Given the description of an element on the screen output the (x, y) to click on. 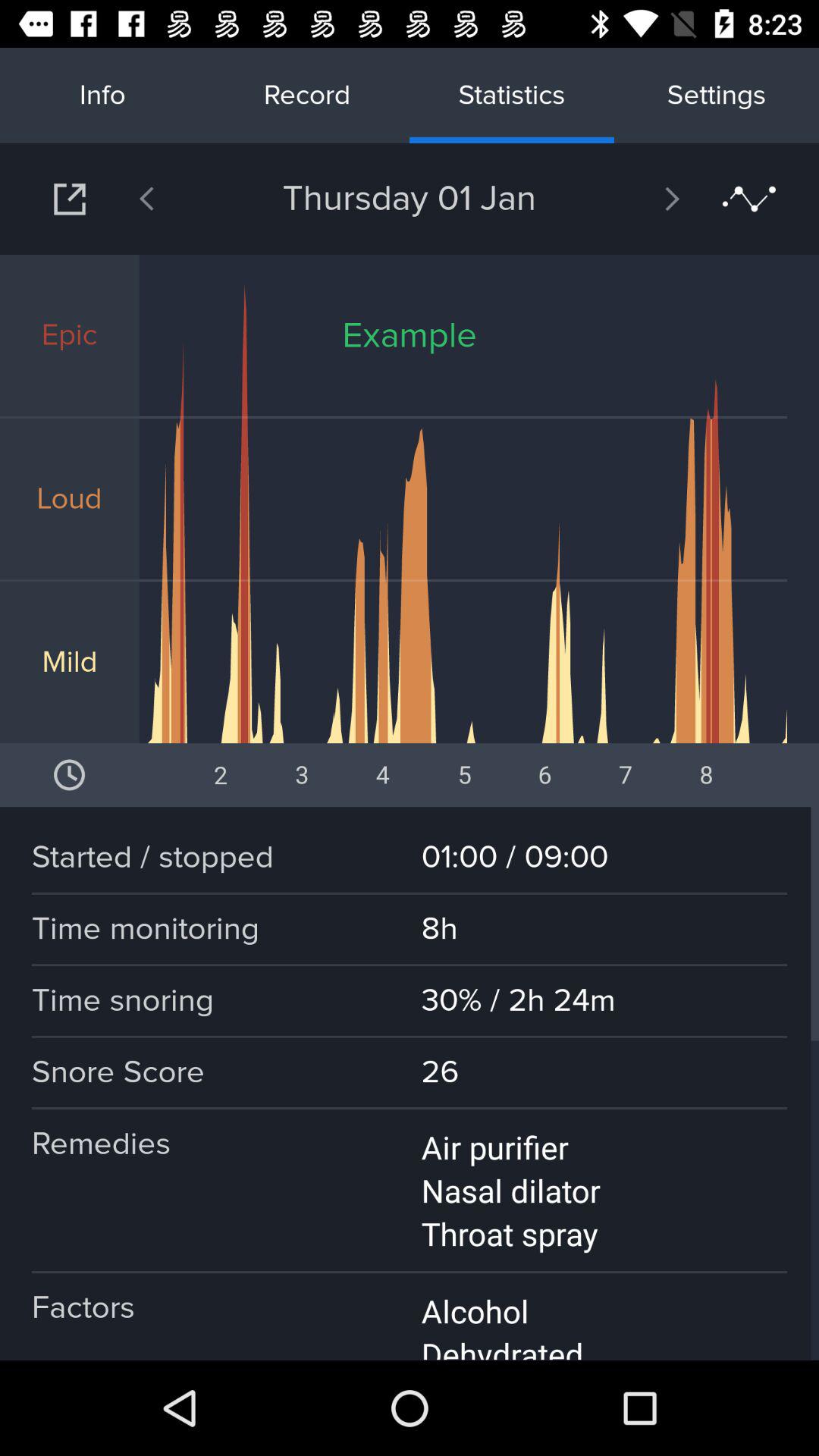
para comprovar la pureza del aire (69, 198)
